Given the description of an element on the screen output the (x, y) to click on. 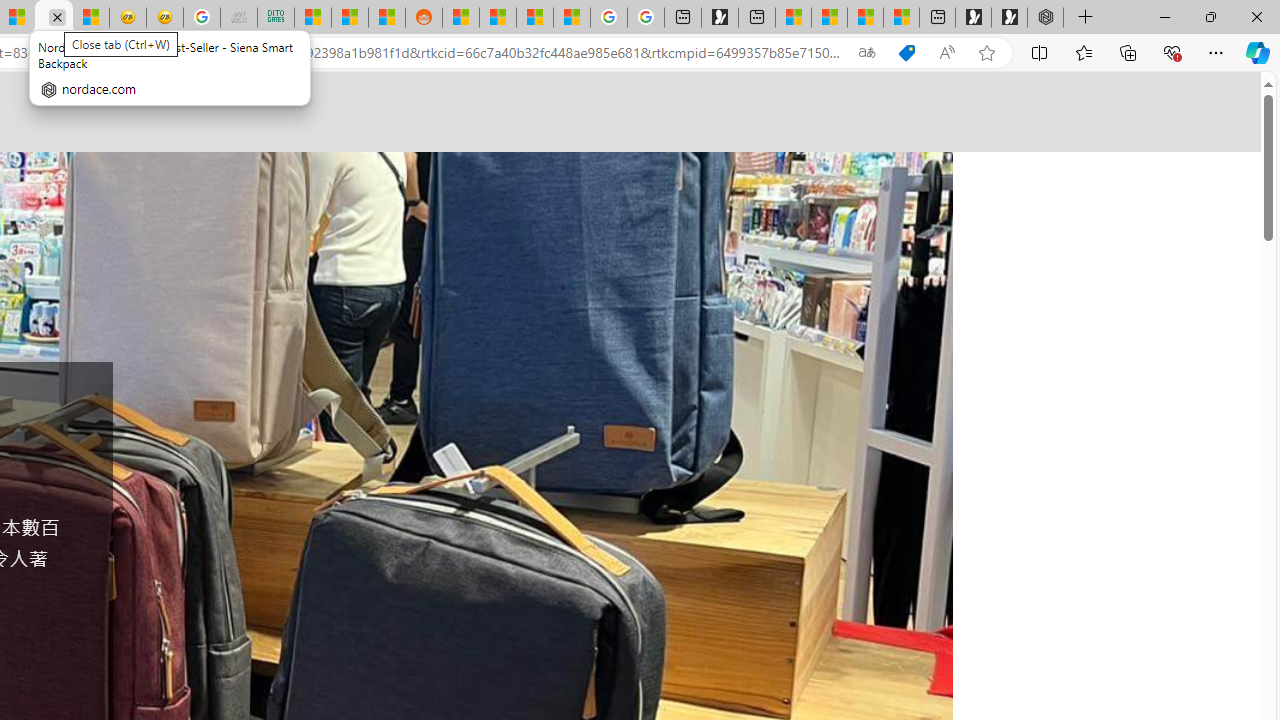
These 3 Stocks Pay You More Than 5% to Own Them (901, 17)
DITOGAMES AG Imprint (276, 17)
Browser essentials (1171, 52)
MSN (386, 17)
Microsoft Start Gaming (719, 17)
Add this page to favorites (Ctrl+D) (986, 53)
Nordace - #1 Japanese Best-Seller - Siena Smart Backpack (53, 17)
New Tab (1085, 17)
R******* | Trusted Community Engagement and Contributions (460, 17)
Navy Quest (239, 17)
